Given the description of an element on the screen output the (x, y) to click on. 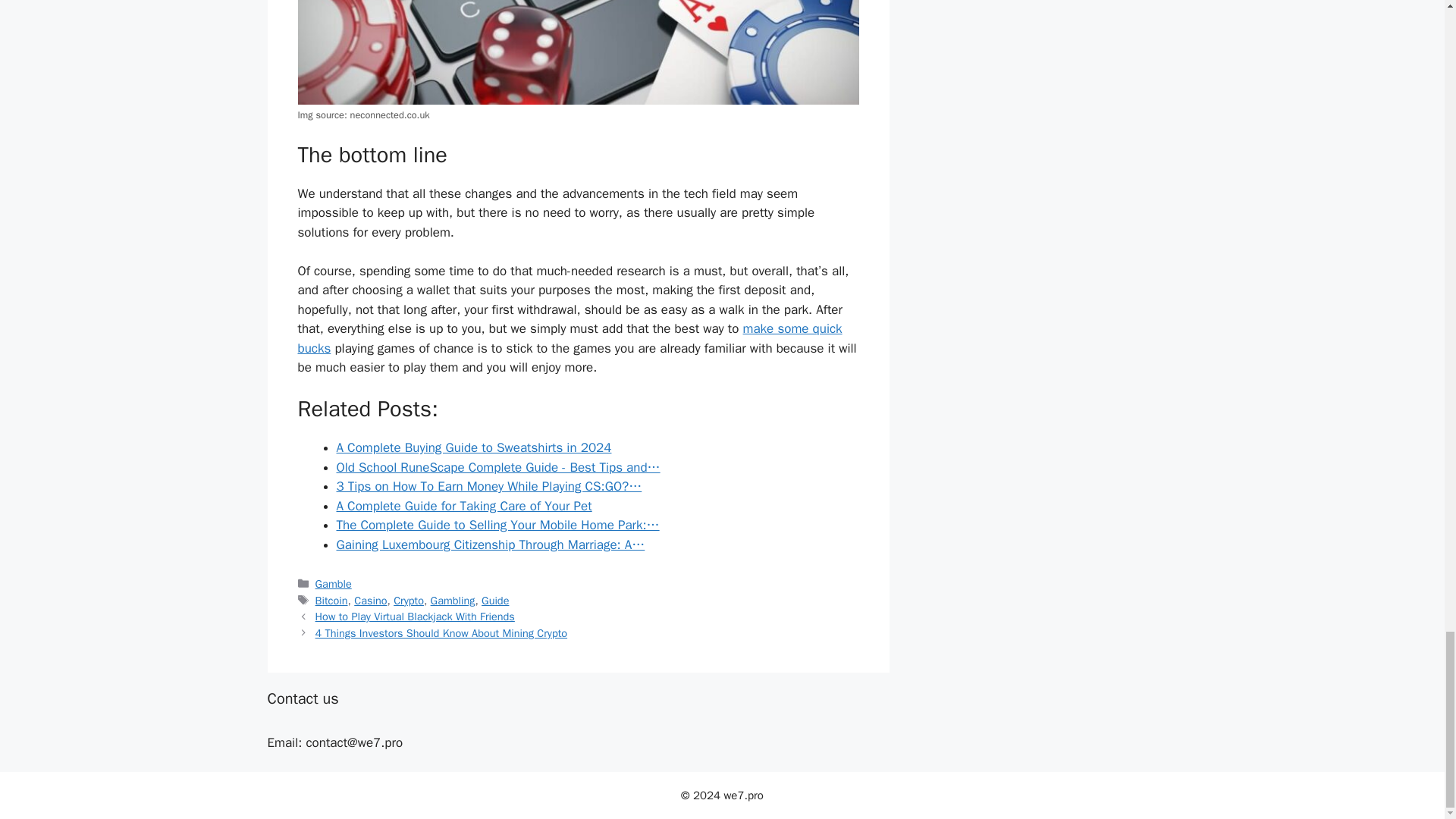
Gambling (453, 600)
A Complete Guide for Taking Care of Your Pet (464, 505)
Bitcoin (331, 600)
Casino (370, 600)
Gamble (333, 583)
4 Things Investors Should Know About Mining Crypto (441, 632)
Crypto (408, 600)
A Complete Buying Guide to Sweatshirts in 2024 (473, 447)
Guide (494, 600)
make some quick bucks (569, 338)
